Given the description of an element on the screen output the (x, y) to click on. 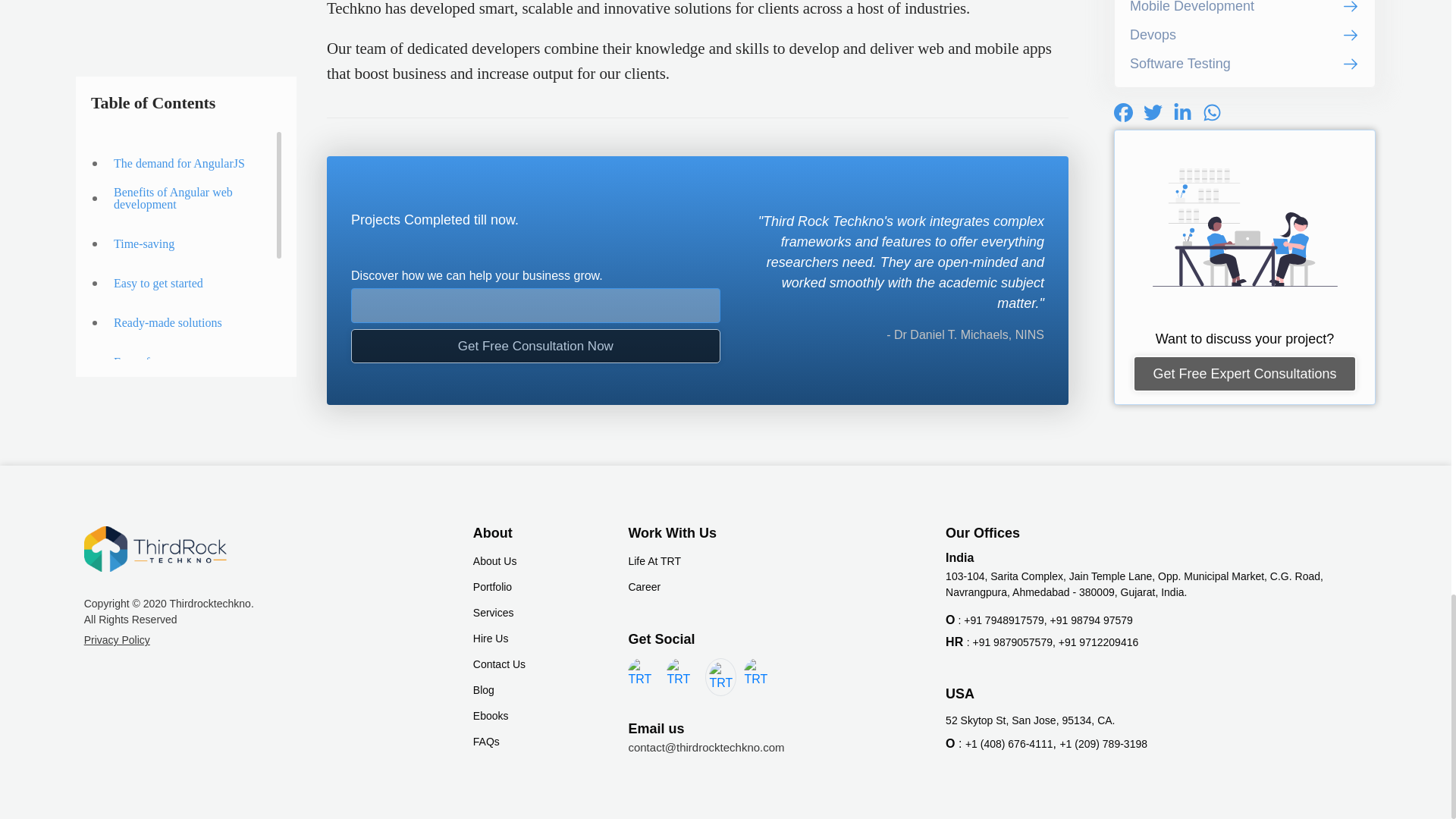
Linkedin (680, 673)
Facebook (641, 673)
Instagram (757, 673)
